Given the description of an element on the screen output the (x, y) to click on. 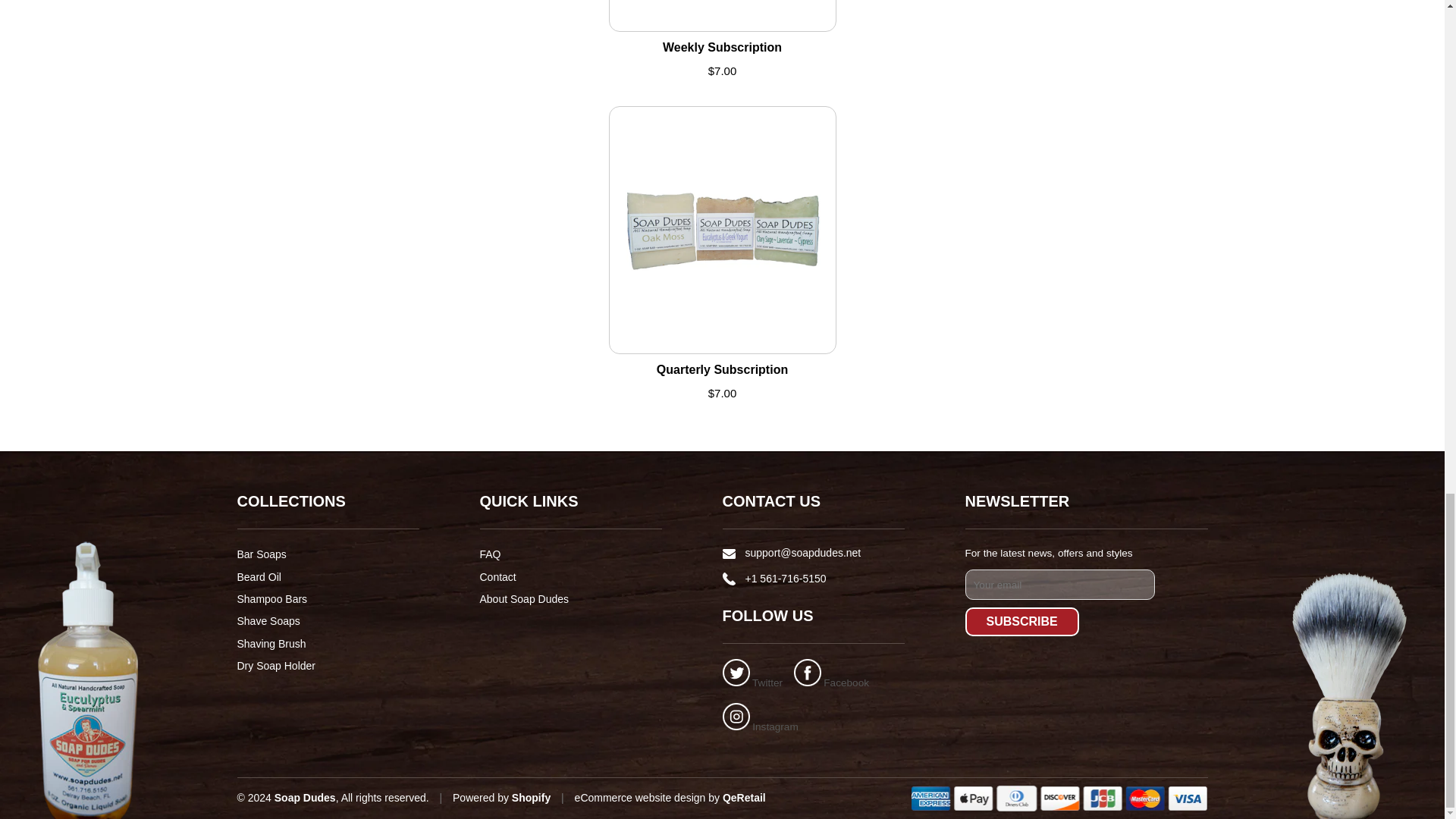
Subscribe (1020, 621)
Soap Dudes on Twitter (752, 682)
Soap Dudes on Facebook (831, 682)
Soap Dudes on Instagram (759, 726)
